Given the description of an element on the screen output the (x, y) to click on. 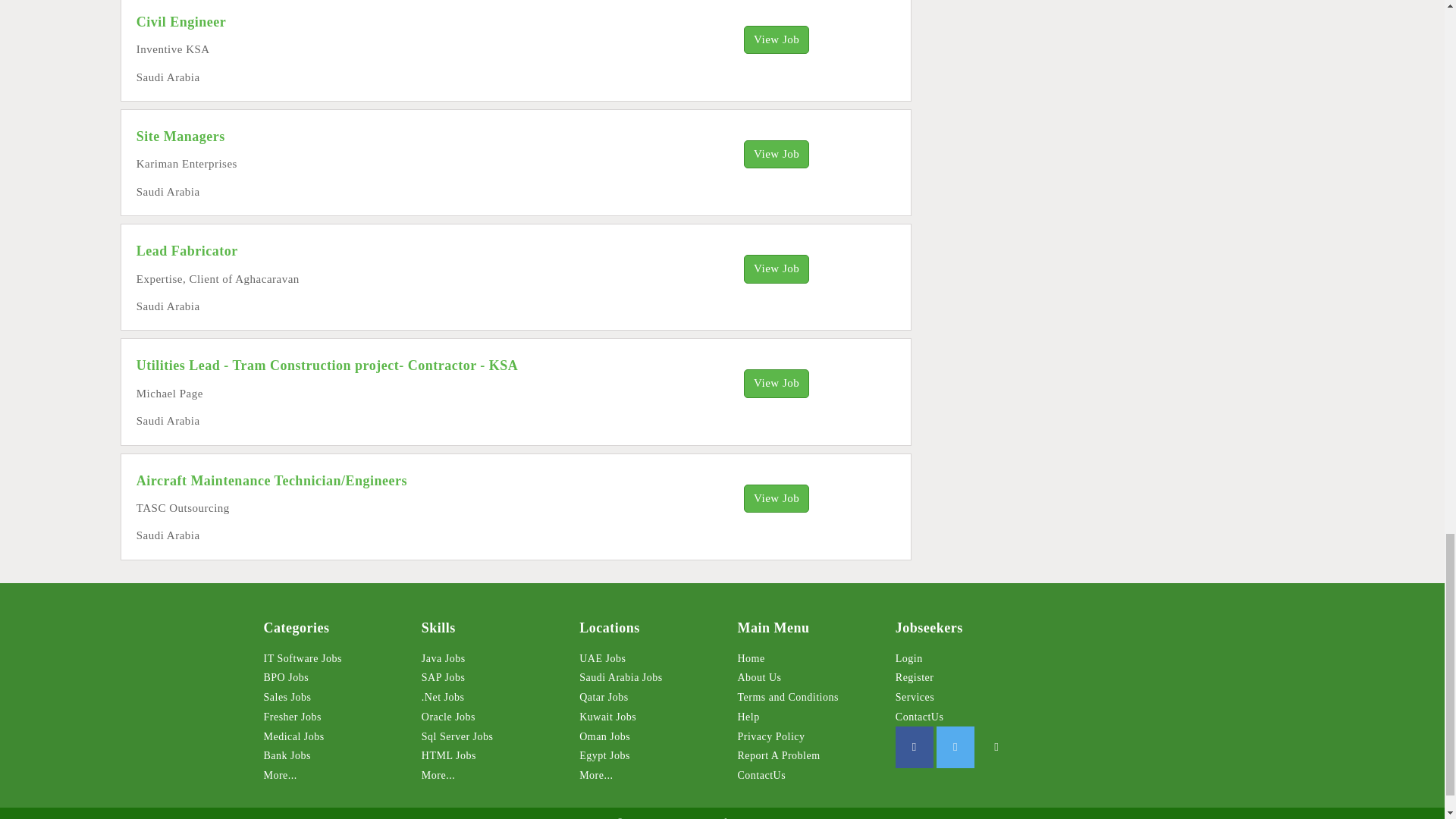
View Job (776, 383)
Civil Engineer (181, 21)
Site Managers (180, 136)
View Job (776, 39)
View Job (776, 498)
View Job (776, 154)
Utilities Lead - Tram Construction project- Contractor - KSA (327, 365)
IT Software Jobs (302, 658)
Lead Fabricator (187, 250)
View Job (776, 268)
